Given the description of an element on the screen output the (x, y) to click on. 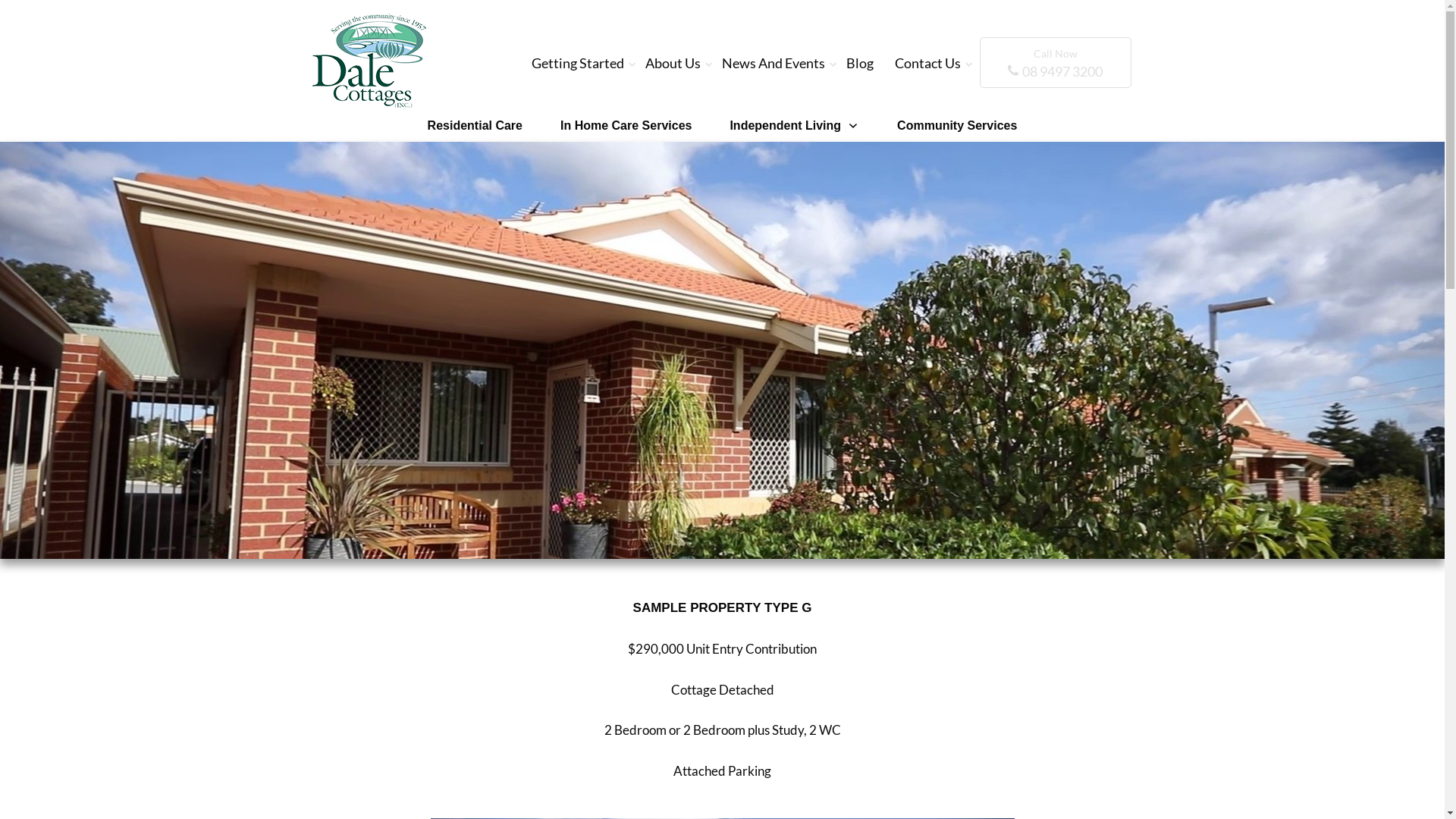
In Home Care Services Element type: text (625, 125)
News And Events Element type: text (773, 62)
Independent Living Element type: text (794, 125)
Blog Element type: text (859, 62)
Community Services Element type: text (956, 125)
Getting Started Element type: text (577, 62)
Residential Care Element type: text (474, 125)
About Us Element type: text (672, 62)
Contact Us Element type: text (927, 62)
Call Now
08 9497 3200 Element type: text (1055, 62)
